Given the description of an element on the screen output the (x, y) to click on. 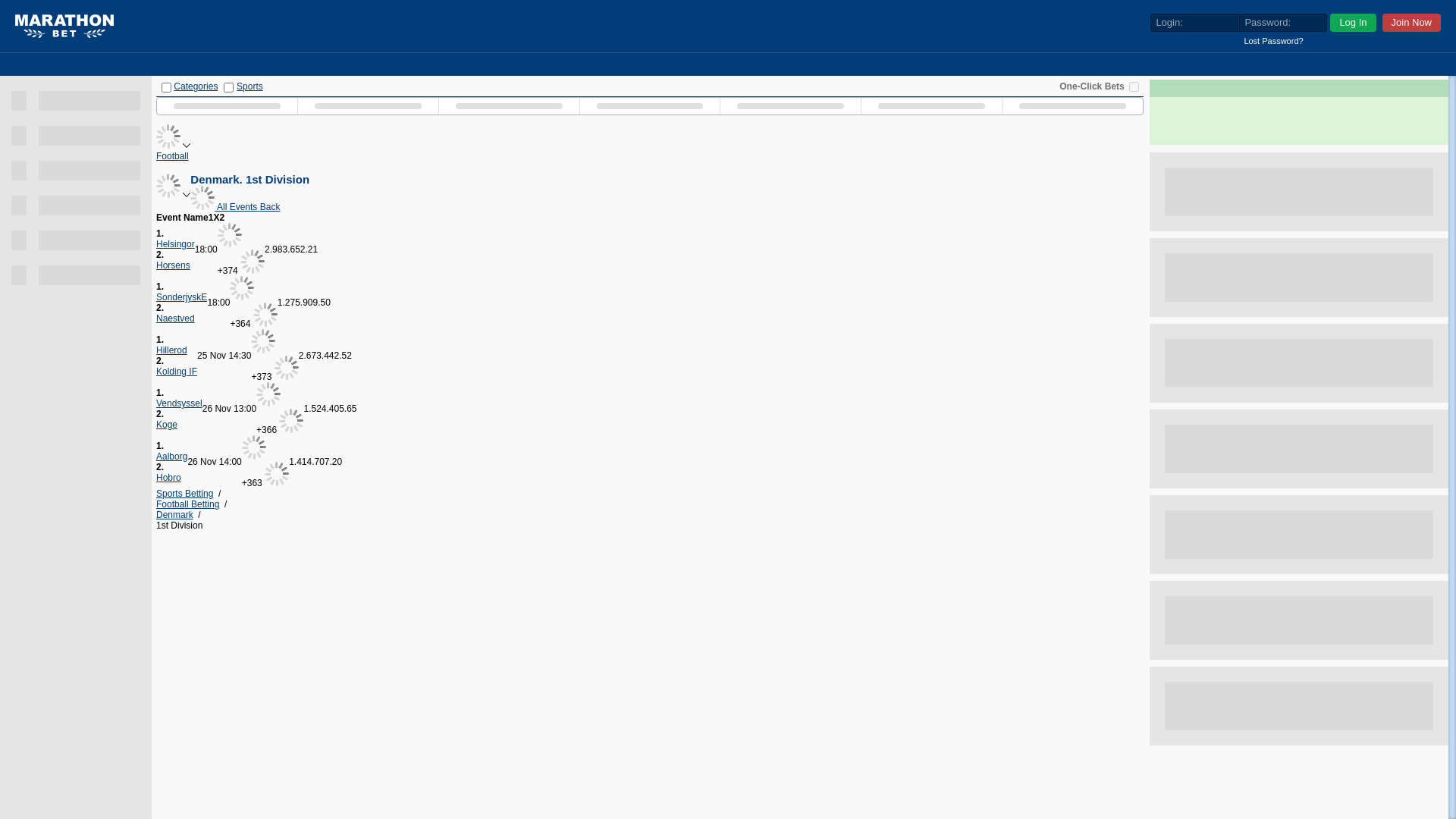
Marathonbet Element type: hover (64, 26)
Aalborg Element type: text (171, 456)
Kolding IF Element type: text (176, 371)
Hillerod Element type: text (171, 350)
Join Now Element type: text (1411, 22)
Football Betting Element type: text (187, 503)
Denmark Element type: text (174, 514)
Lost Password? Element type: text (1270, 40)
Koge Element type: text (166, 424)
Football Element type: text (172, 155)
Naestved Element type: text (175, 318)
All Events Back Element type: text (234, 206)
Hobro Element type: text (168, 477)
Horsens Element type: text (173, 265)
Helsingor Element type: text (175, 243)
SonderjyskE Element type: text (181, 296)
Vendsyssel Element type: text (179, 403)
on Element type: text (1134, 86)
Log In Element type: text (1352, 22)
Sports Betting Element type: text (184, 493)
